Given the description of an element on the screen output the (x, y) to click on. 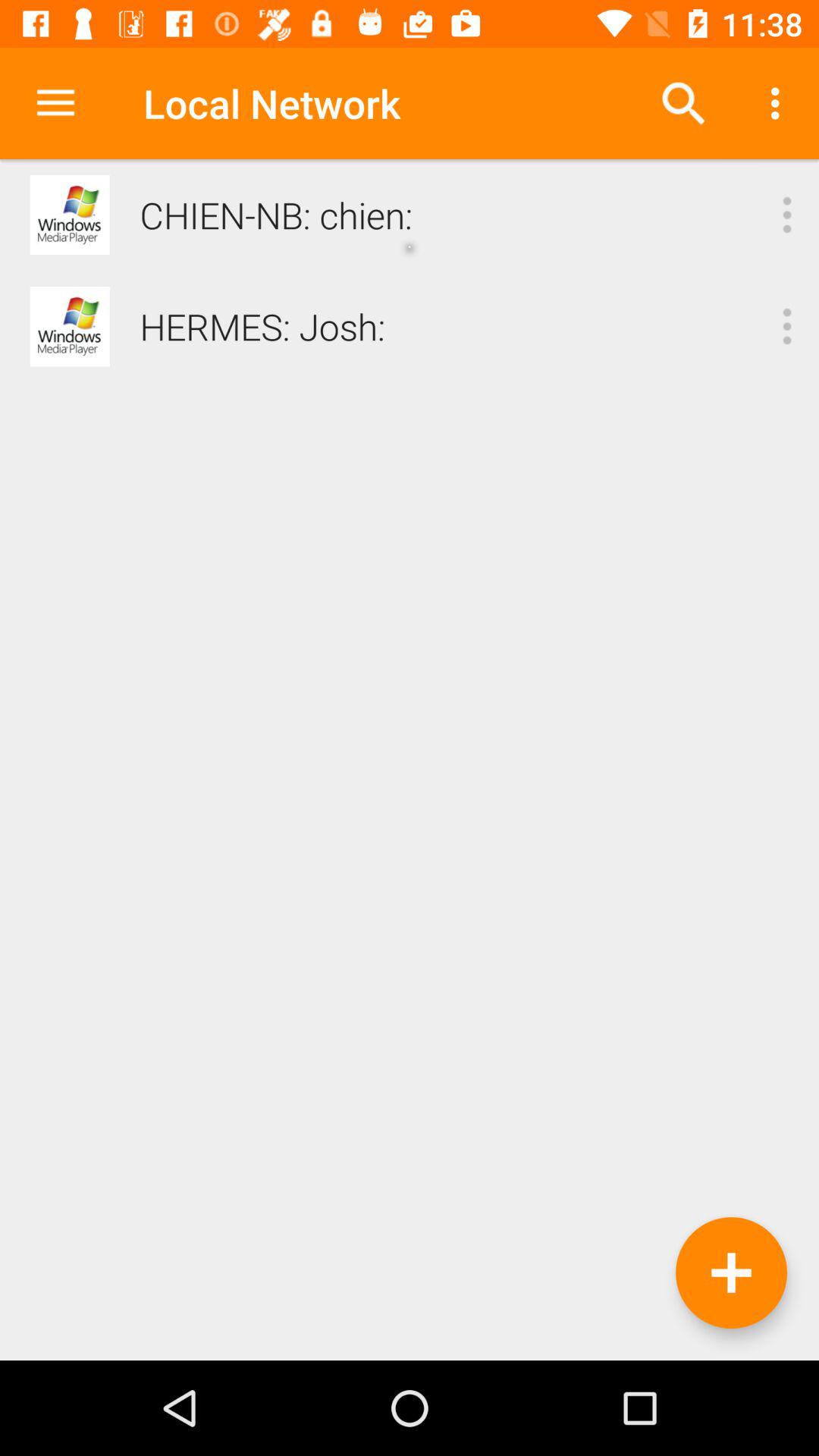
turn on the icon at the bottom right corner (731, 1272)
